Given the description of an element on the screen output the (x, y) to click on. 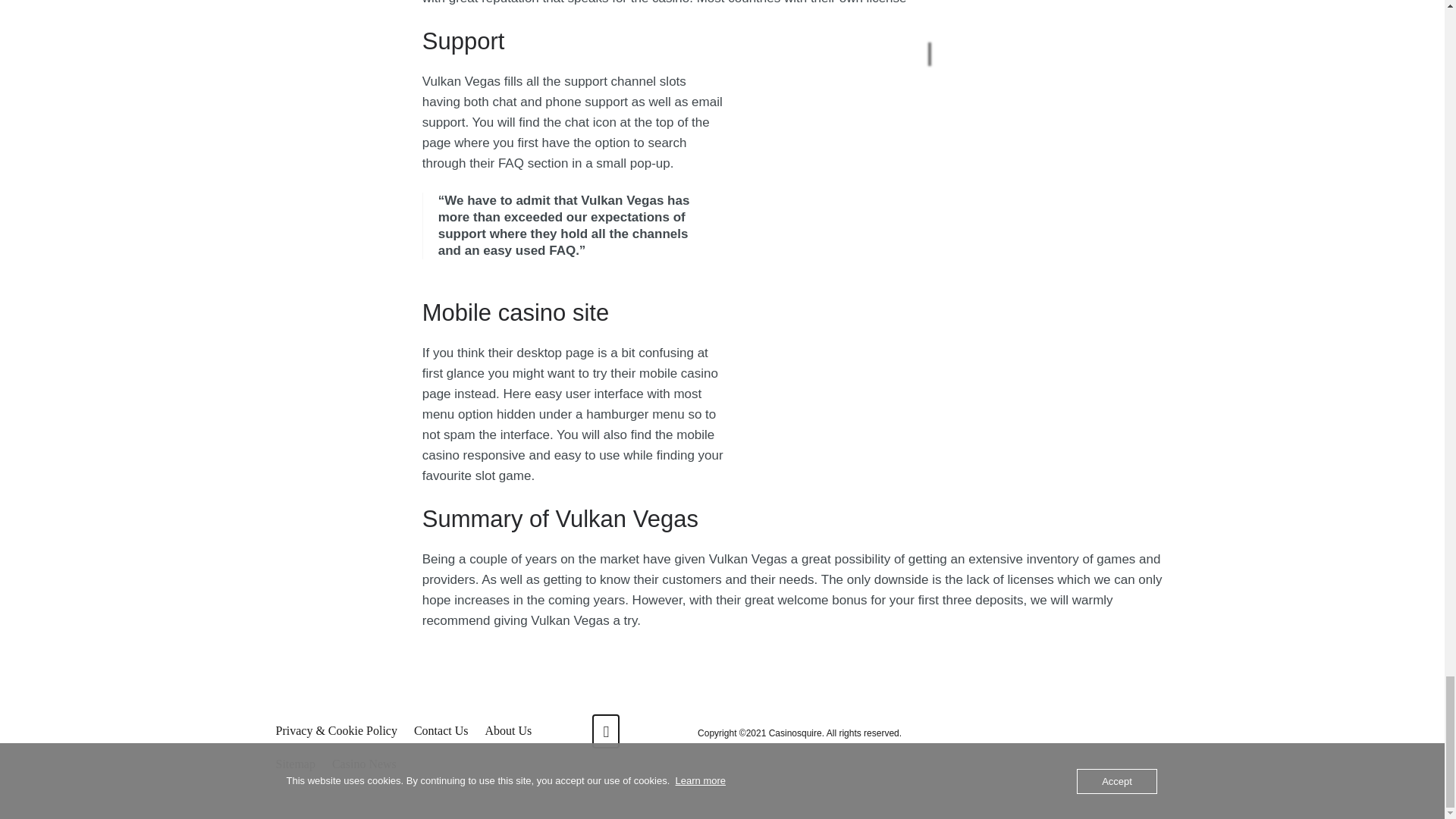
Sitemap (295, 764)
Contact Us (440, 730)
Casino News (363, 764)
About Us (507, 730)
